Given the description of an element on the screen output the (x, y) to click on. 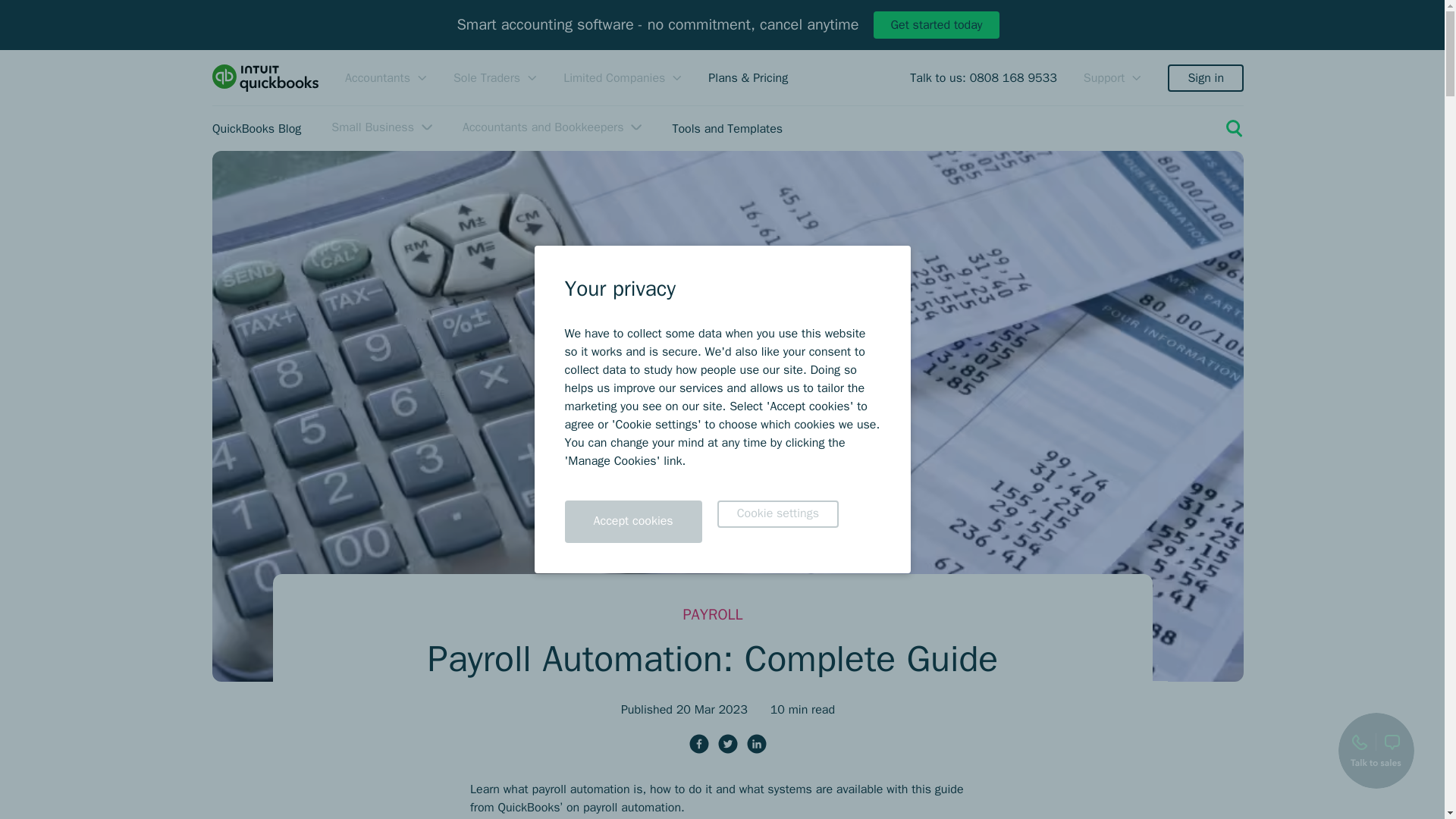
Go to the QuickBooks homepage (265, 77)
Sole Traders (494, 77)
Accept cookies (632, 521)
Accountants (385, 77)
Limited Companies (622, 77)
Get started today (935, 24)
Cookie settings (777, 513)
